Given the description of an element on the screen output the (x, y) to click on. 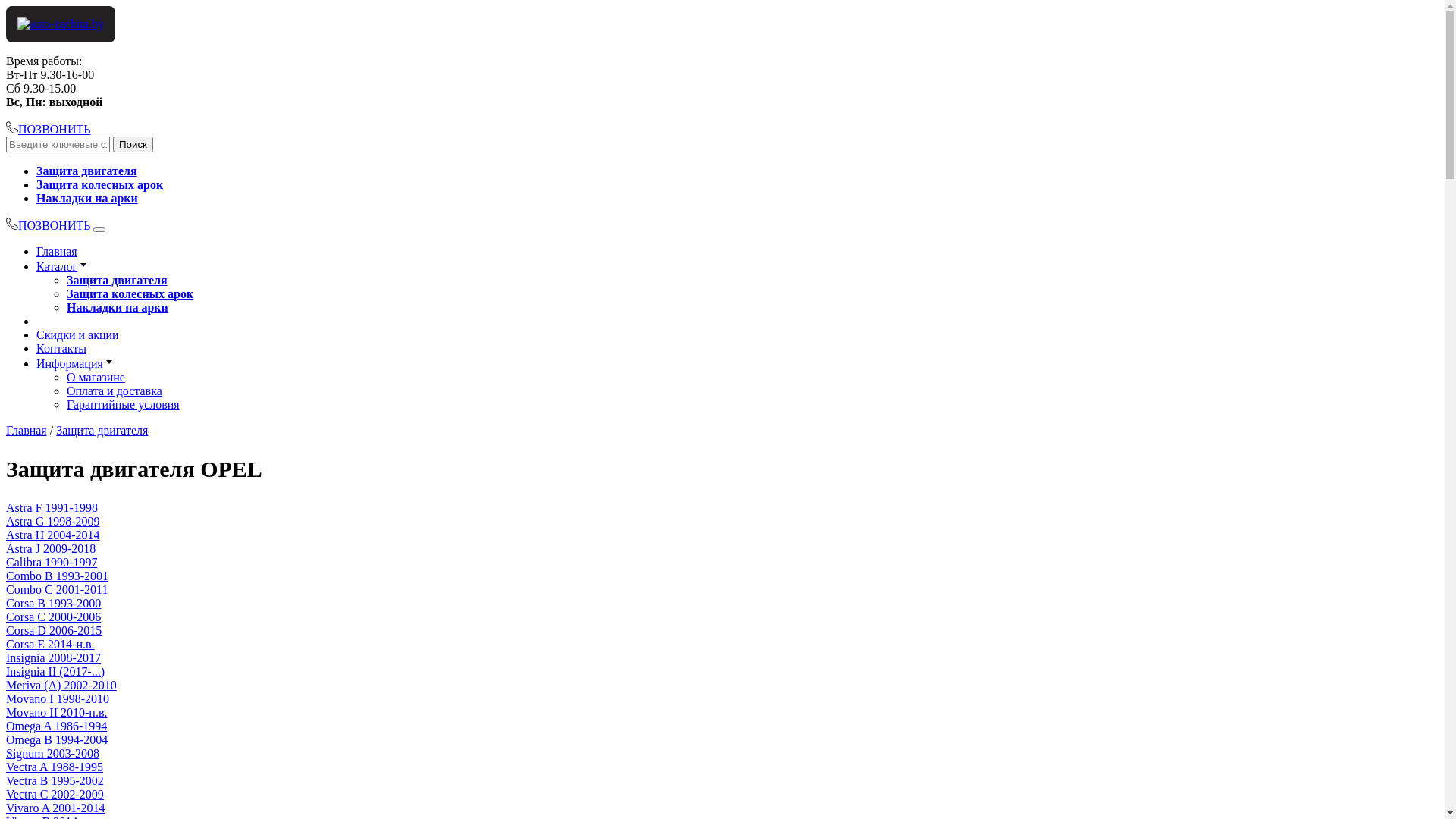
Corsa C 2000-2006 Element type: text (53, 616)
Omega B 1994-2004 Element type: text (56, 739)
Vectra A 1988-1995 Element type: text (54, 766)
Signum 2003-2008 Element type: text (52, 752)
Combo B 1993-2001 Element type: text (57, 575)
Vectra B 1995-2002 Element type: text (54, 780)
Astra G 1998-2009 Element type: text (53, 520)
Movano I 1998-2010 Element type: text (57, 698)
Combo C 2001-2011 Element type: text (57, 589)
Astra J 2009-2018 Element type: text (50, 548)
Corsa B 1993-2000 Element type: text (53, 602)
Vivaro A 2001-2014 Element type: text (55, 807)
Omega A 1986-1994 Element type: text (56, 725)
Meriva (A) 2002-2010 Element type: text (61, 684)
Insignia II (2017-...) Element type: text (55, 671)
Insignia 2008-2017 Element type: text (53, 657)
Corsa D 2006-2015 Element type: text (53, 630)
Astra F 1991-1998 Element type: text (51, 507)
Calibra 1990-1997 Element type: text (51, 561)
Vectra C 2002-2009 Element type: text (54, 793)
Astra H 2004-2014 Element type: text (53, 534)
